Given the description of an element on the screen output the (x, y) to click on. 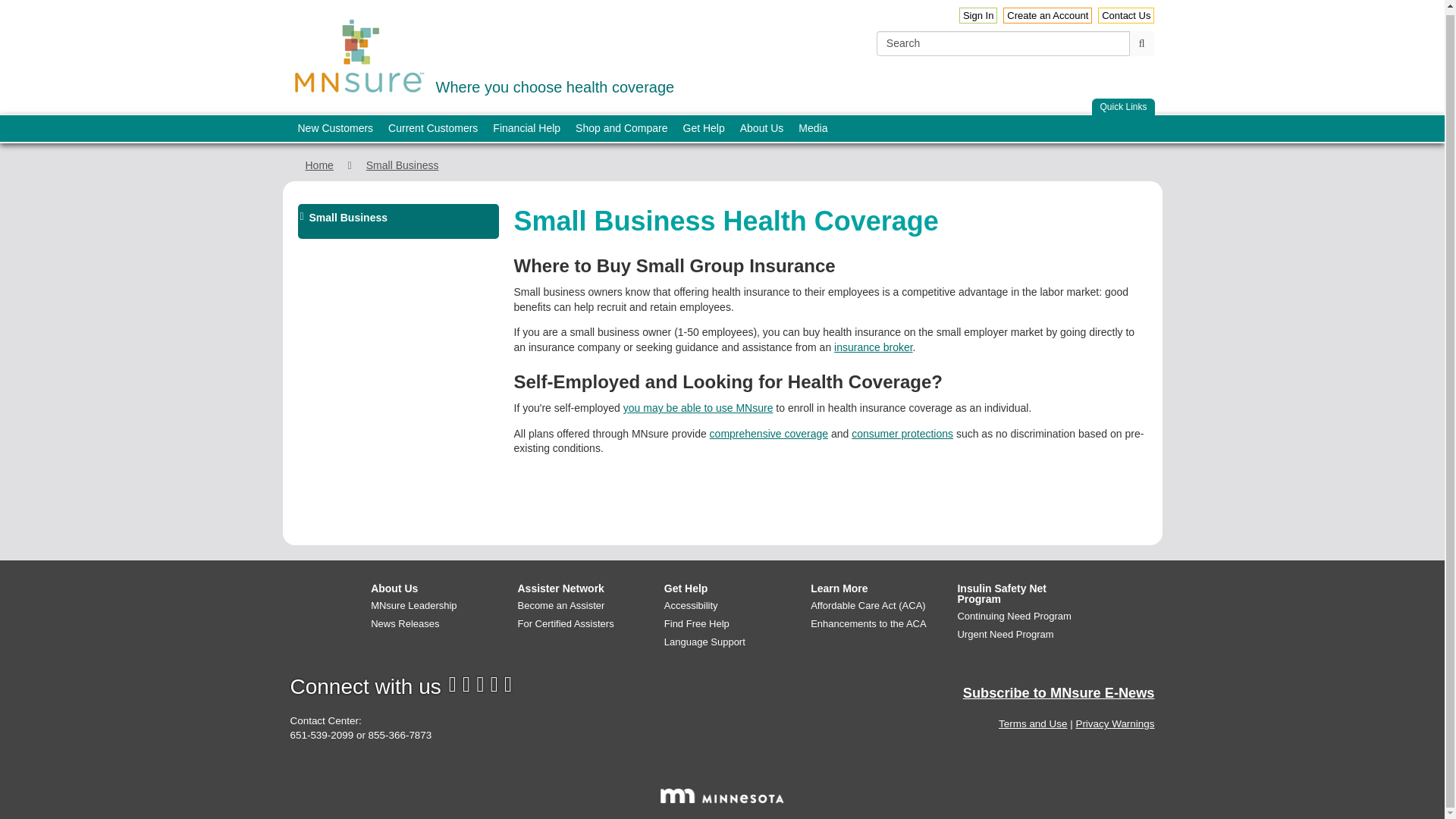
submit (1141, 43)
Quick Links (1123, 107)
Proudly serving the State of Minnesota (722, 795)
New Customers (334, 128)
01 Intro - Privacy Warnings (481, 53)
return to home page (1114, 723)
Essential Health Benefits (358, 56)
Sign In (769, 433)
Contact Us (978, 15)
